Given the description of an element on the screen output the (x, y) to click on. 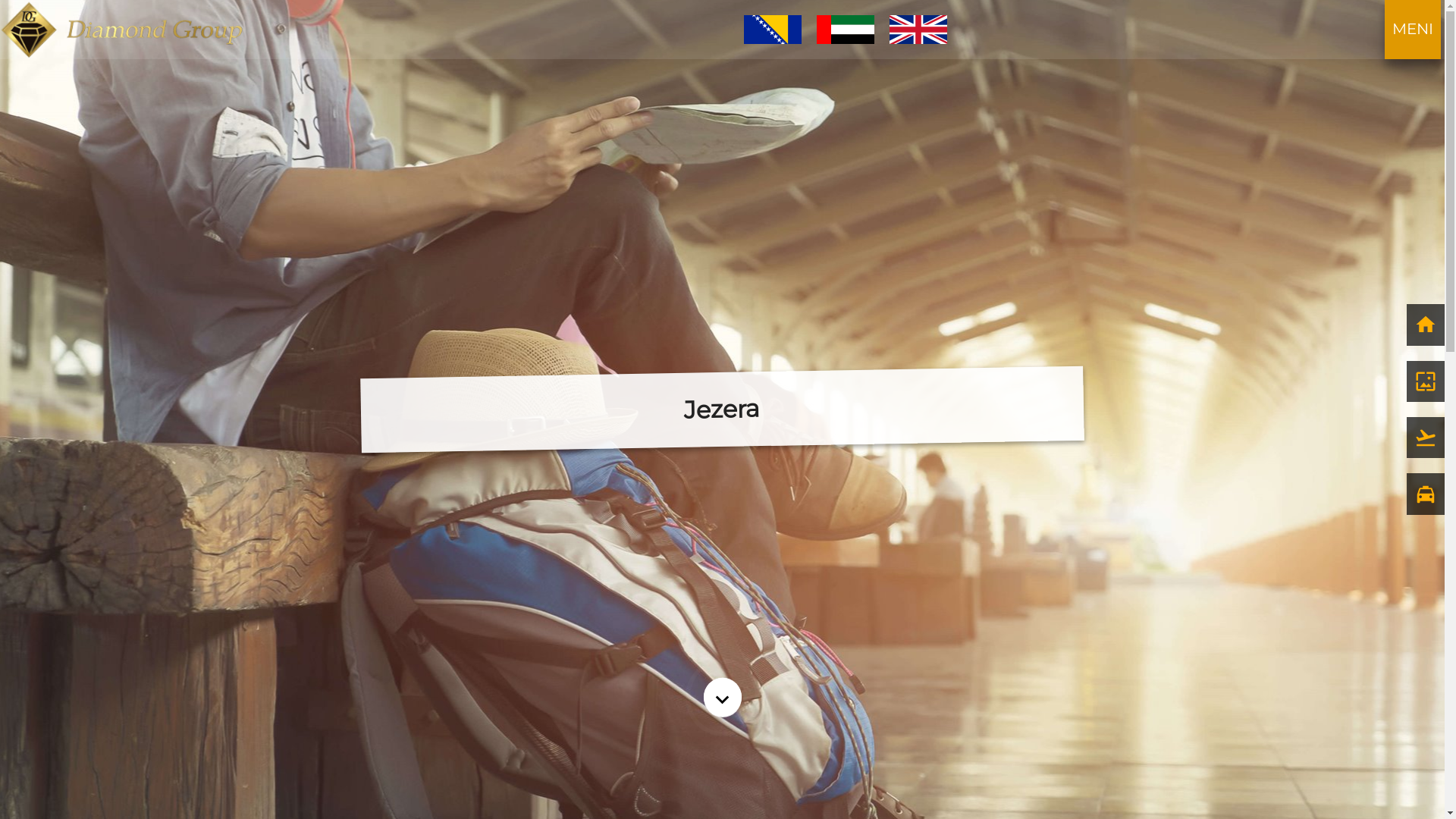
expand_more Element type: text (722, 696)
MENI Element type: text (1412, 29)
